Given the description of an element on the screen output the (x, y) to click on. 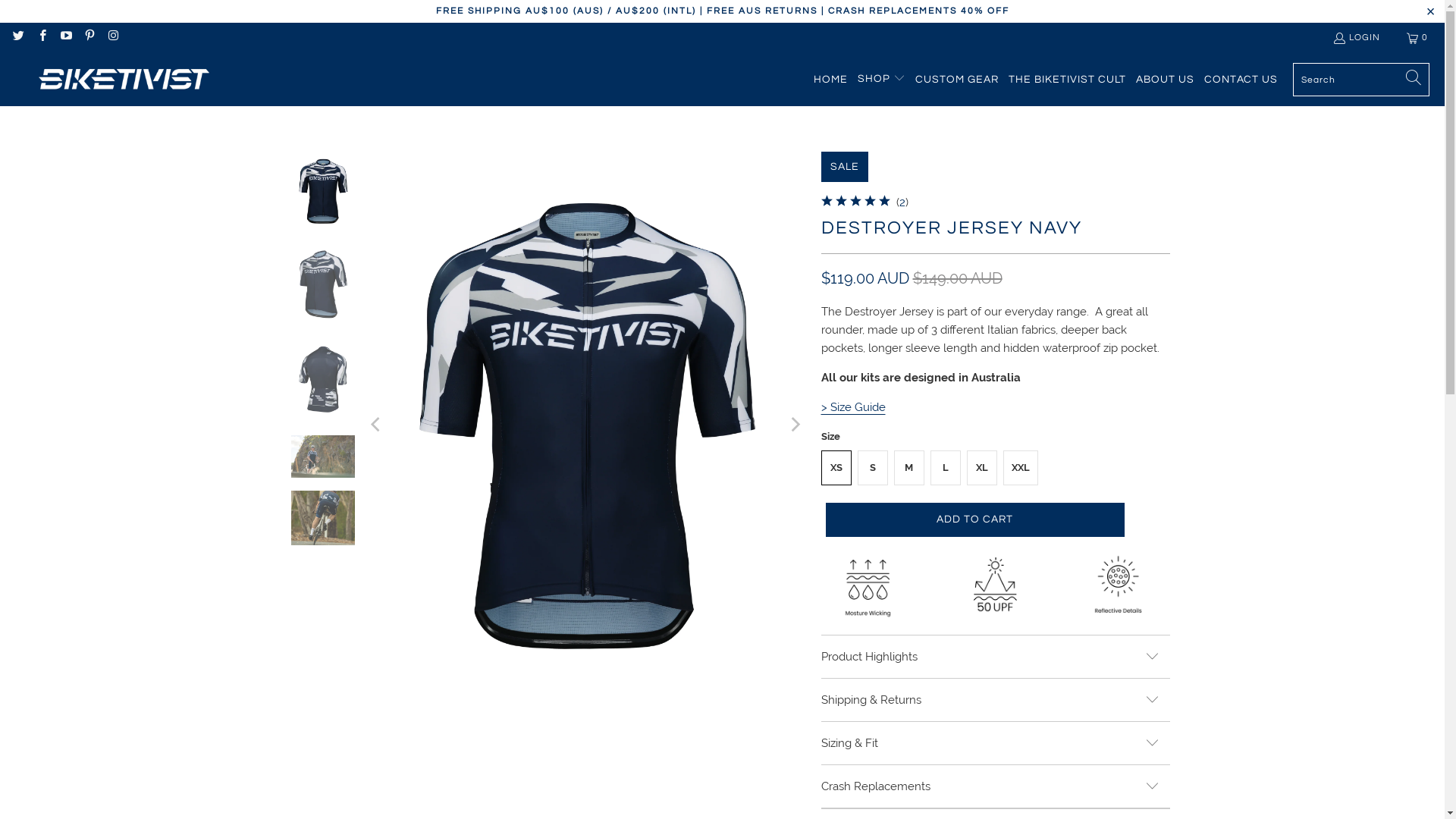
ADD TO CART Element type: text (974, 519)
Biketivist on Pinterest Element type: hover (88, 37)
Biketivist on Instagram Element type: hover (112, 37)
CONTACT US Element type: text (1240, 78)
> Size Guide Element type: text (852, 407)
0 Element type: text (1417, 37)
CUSTOM GEAR Element type: text (956, 78)
Biketivist Element type: hover (121, 79)
ABOUT US Element type: text (1164, 78)
Biketivist on YouTube Element type: hover (65, 37)
THE BIKETIVIST CULT Element type: text (1067, 78)
HOME Element type: text (830, 78)
Biketivist on Facebook Element type: hover (40, 37)
2
total reviews Element type: text (902, 202)
LOGIN Element type: text (1356, 37)
Biketivist on Twitter Element type: hover (17, 37)
